Given the description of an element on the screen output the (x, y) to click on. 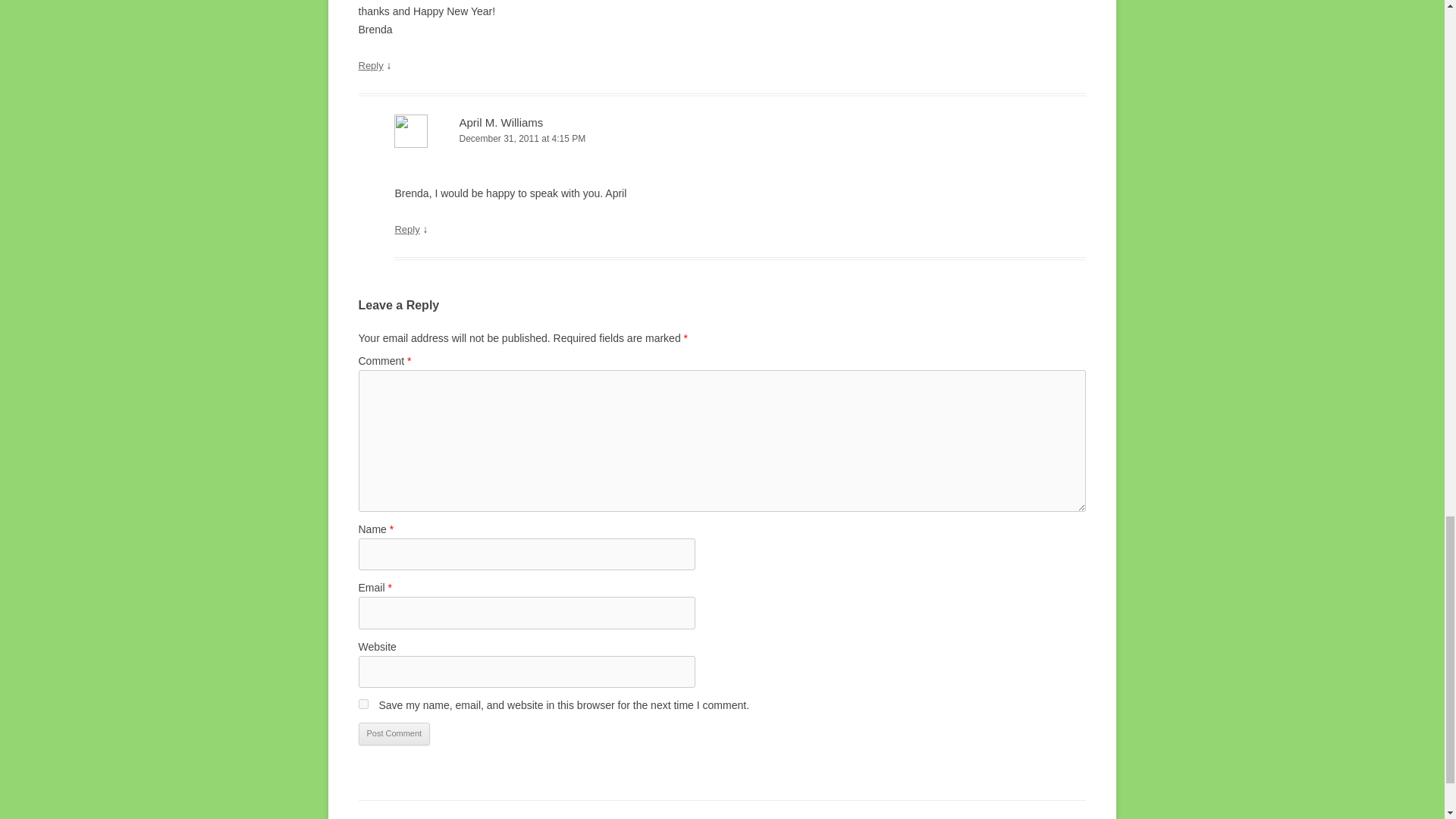
December 31, 2011 at 4:15 PM (740, 139)
Post Comment (393, 733)
Reply (406, 229)
yes (363, 704)
Post Comment (393, 733)
April M. Williams (500, 122)
Reply (370, 65)
